Given the description of an element on the screen output the (x, y) to click on. 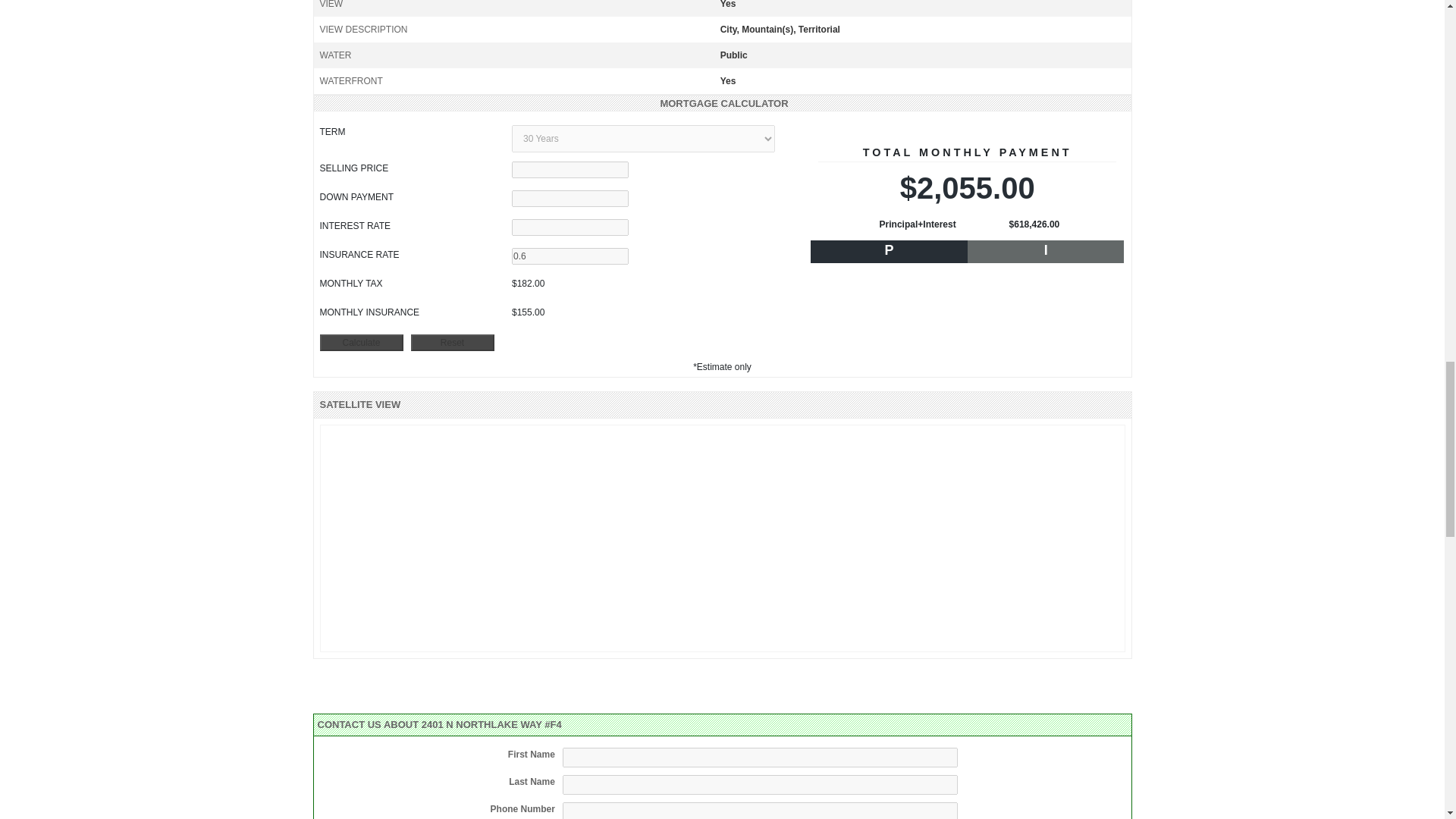
0.6 (570, 256)
Calculate (361, 342)
Reset (452, 342)
